Given the description of an element on the screen output the (x, y) to click on. 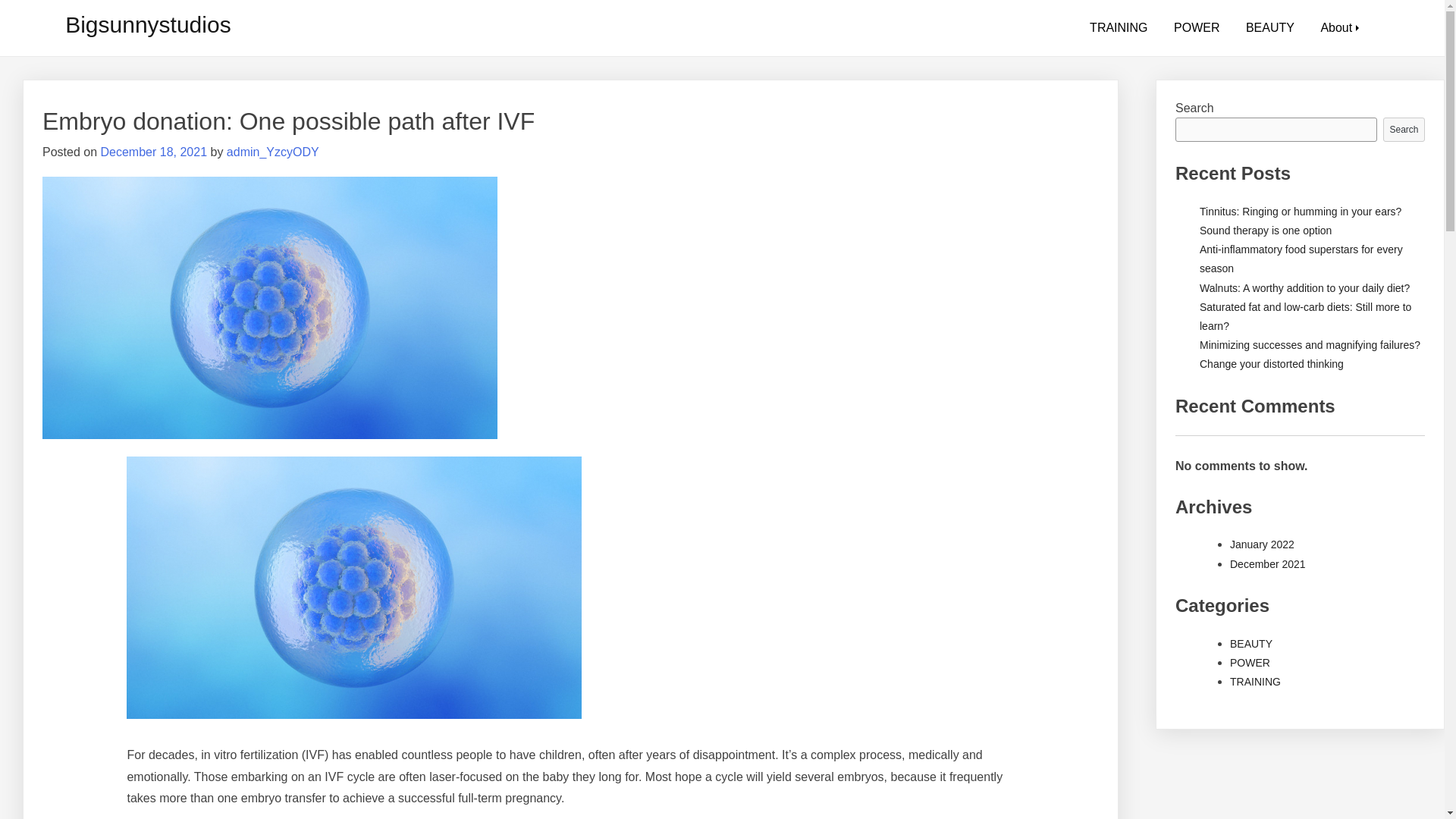
TRAINING (1255, 681)
Bigsunnystudios (147, 24)
BEAUTY (1251, 644)
Saturated fat and low-carb diets: Still more to learn? (1304, 316)
January 2022 (1262, 544)
POWER (1249, 662)
Anti-inflammatory food superstars for every season (1301, 258)
About (1335, 28)
